Given the description of an element on the screen output the (x, y) to click on. 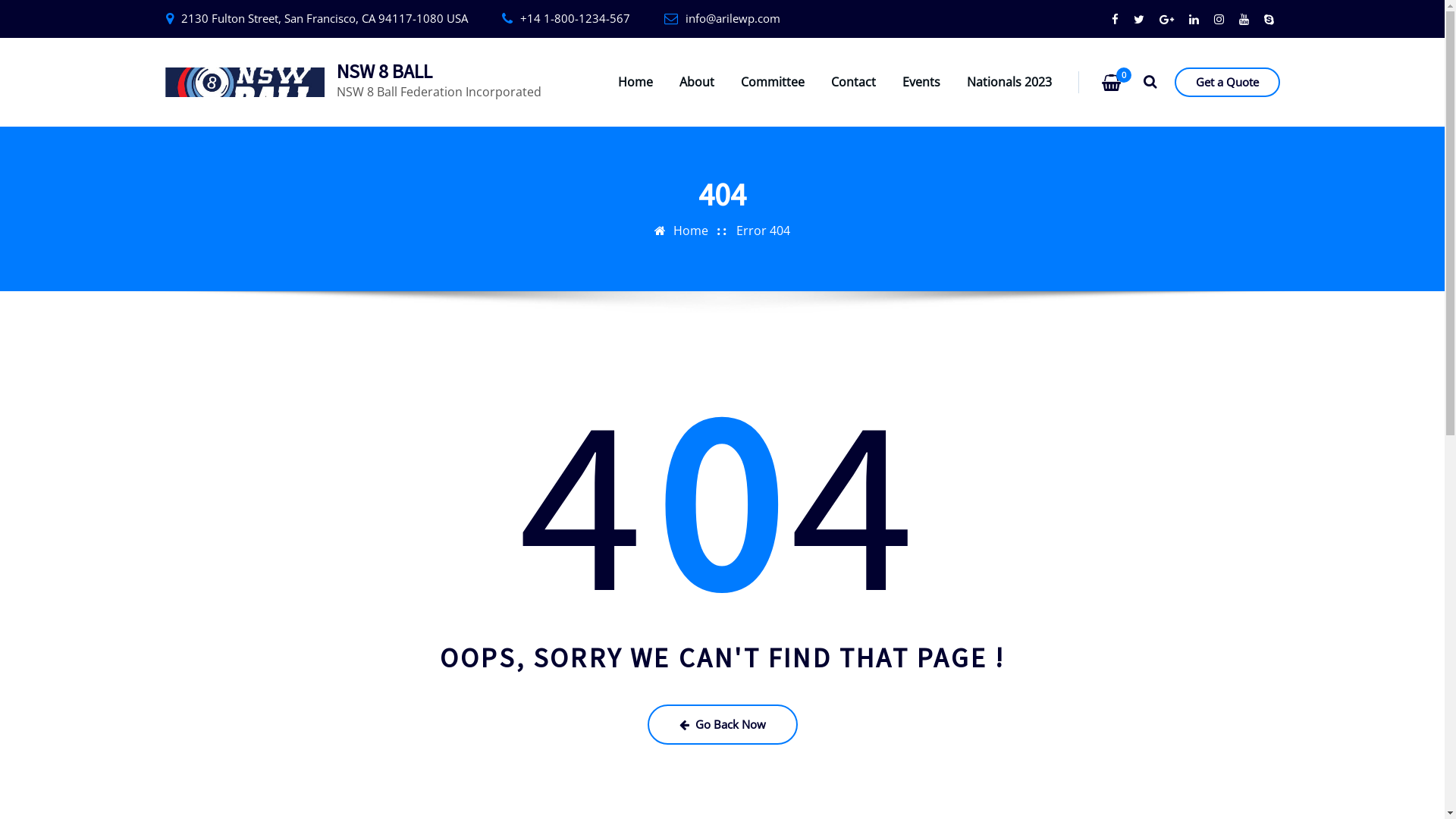
Contact Element type: text (853, 81)
NSW 8 BALL Element type: text (384, 71)
info@arilewp.com Element type: text (732, 17)
Home Element type: text (690, 230)
About Element type: text (696, 81)
Events Element type: text (921, 81)
Get a Quote Element type: text (1226, 82)
Nationals 2023 Element type: text (1008, 81)
Home Element type: text (635, 81)
Committee Element type: text (772, 81)
Error 404 Element type: text (763, 230)
Go Back Now Element type: text (722, 723)
